Given the description of an element on the screen output the (x, y) to click on. 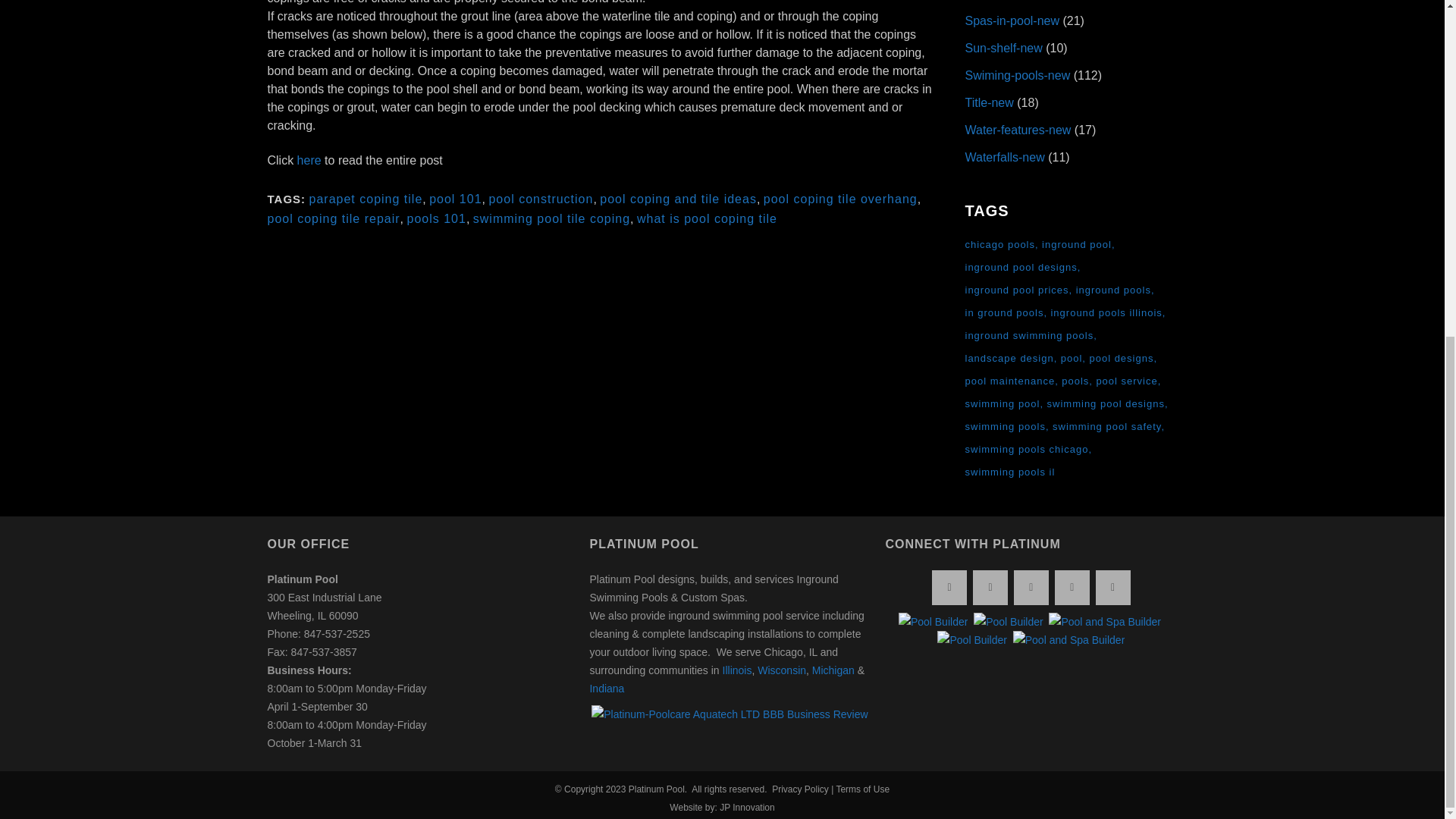
Pool builder (933, 621)
Pool builder (1008, 621)
Pool and Spa builder (1104, 621)
Pool builder (972, 639)
Pool and Spa builder (1069, 639)
